Given the description of an element on the screen output the (x, y) to click on. 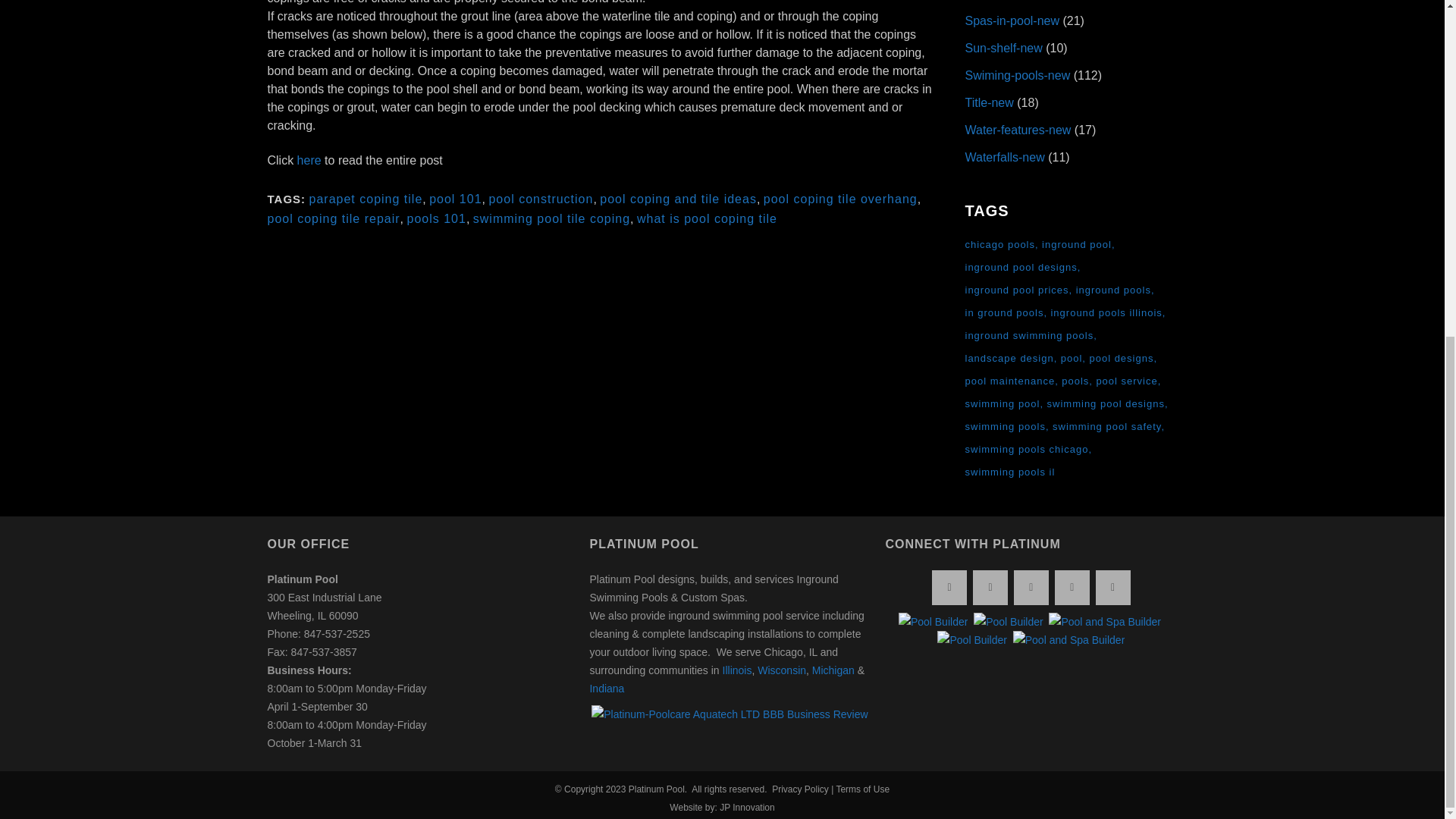
Pool builder (933, 621)
Pool builder (1008, 621)
Pool and Spa builder (1104, 621)
Pool builder (972, 639)
Pool and Spa builder (1069, 639)
